Given the description of an element on the screen output the (x, y) to click on. 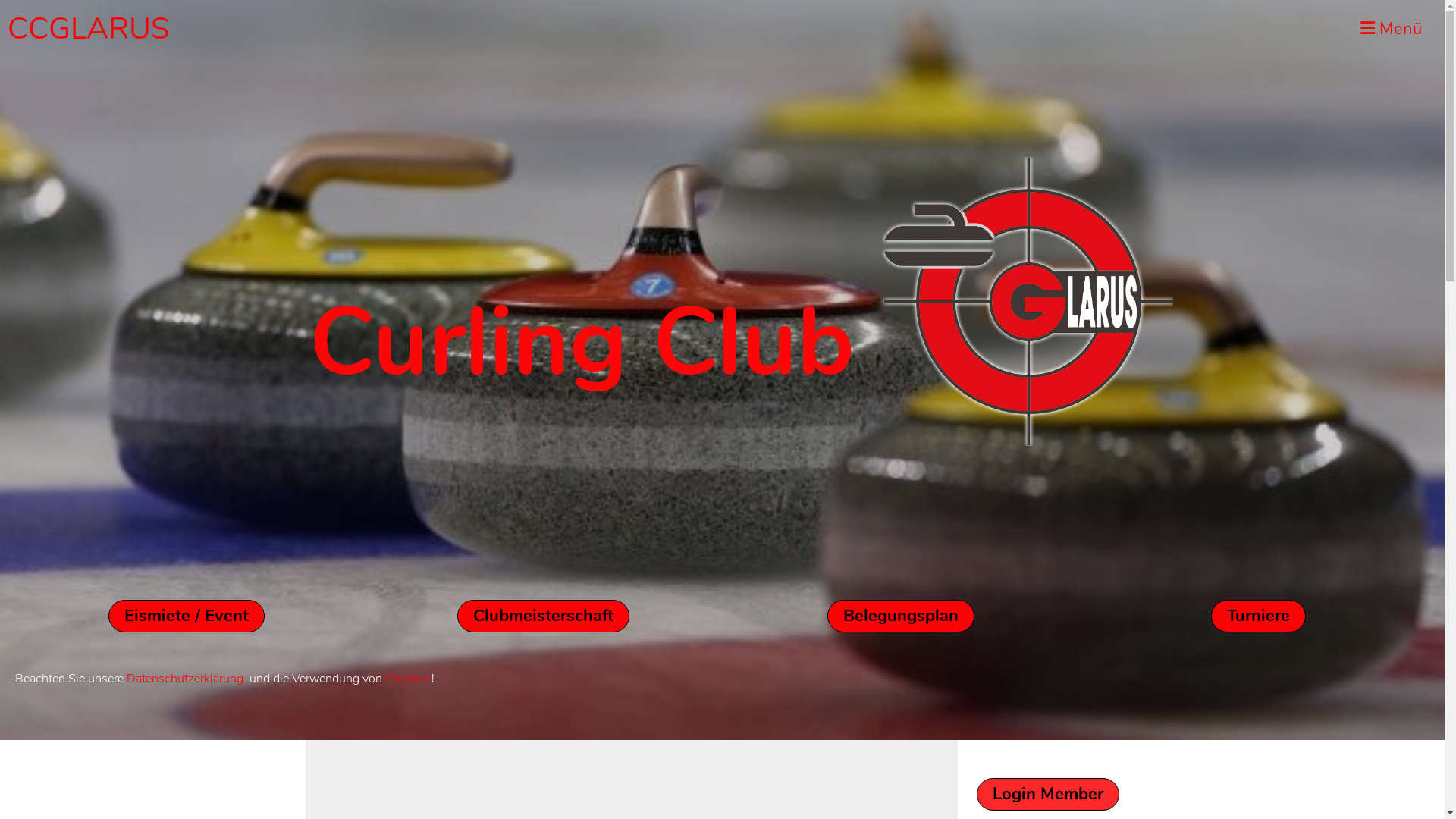
Eismiete / Event Element type: text (186, 615)
CCGLARUS Element type: text (88, 28)
Clubmeisterschaft Element type: text (543, 615)
Cookies Element type: text (406, 678)
Login Member Element type: text (1047, 794)
Belegungsplan Element type: text (900, 615)
Turniere Element type: text (1258, 615)
